Given the description of an element on the screen output the (x, y) to click on. 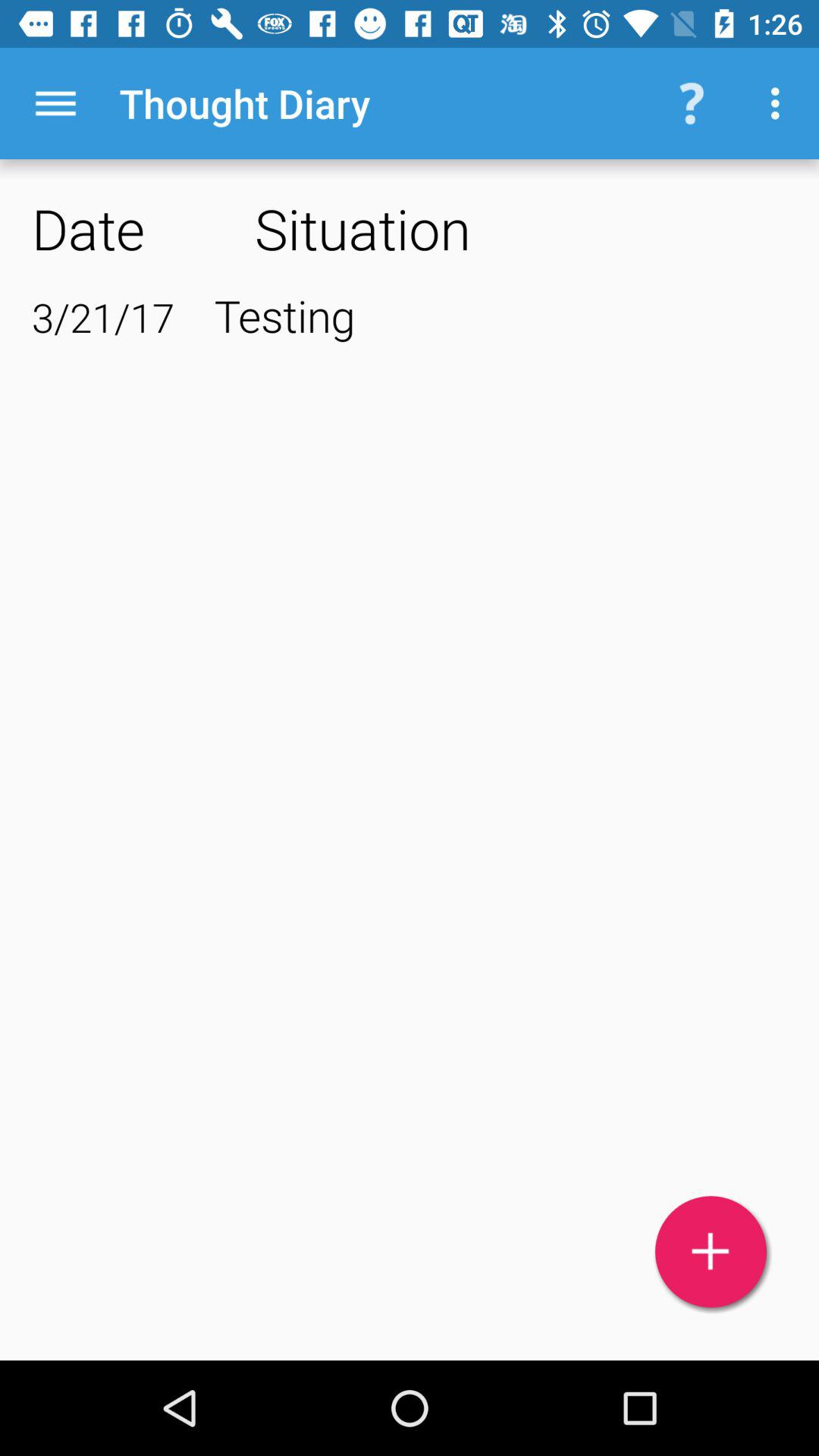
select the item below the date app (102, 316)
